Given the description of an element on the screen output the (x, y) to click on. 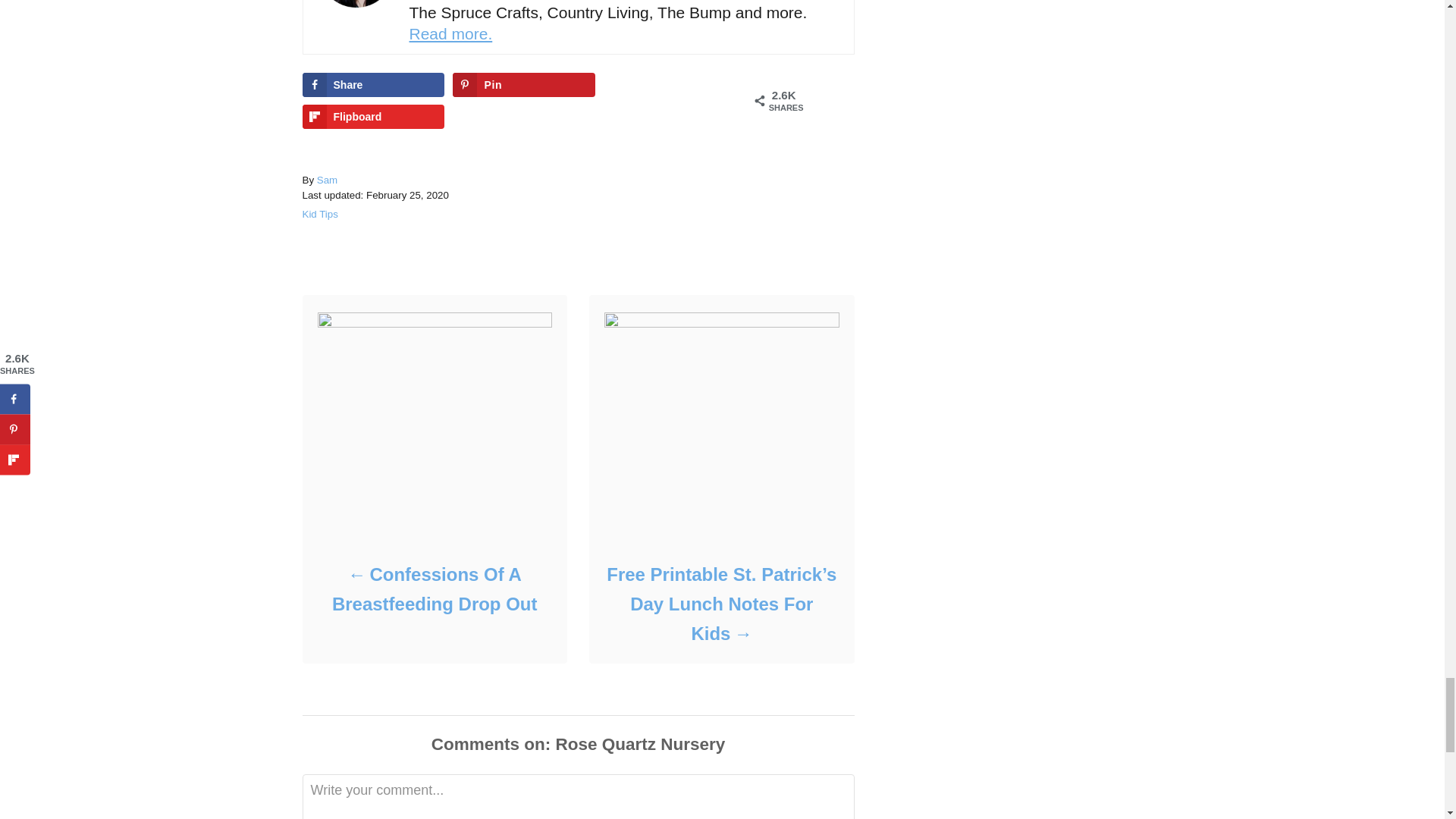
Read more. (451, 33)
Share on Flipboard (372, 116)
Share on Facebook (372, 84)
Save to Pinterest (523, 84)
